Given the description of an element on the screen output the (x, y) to click on. 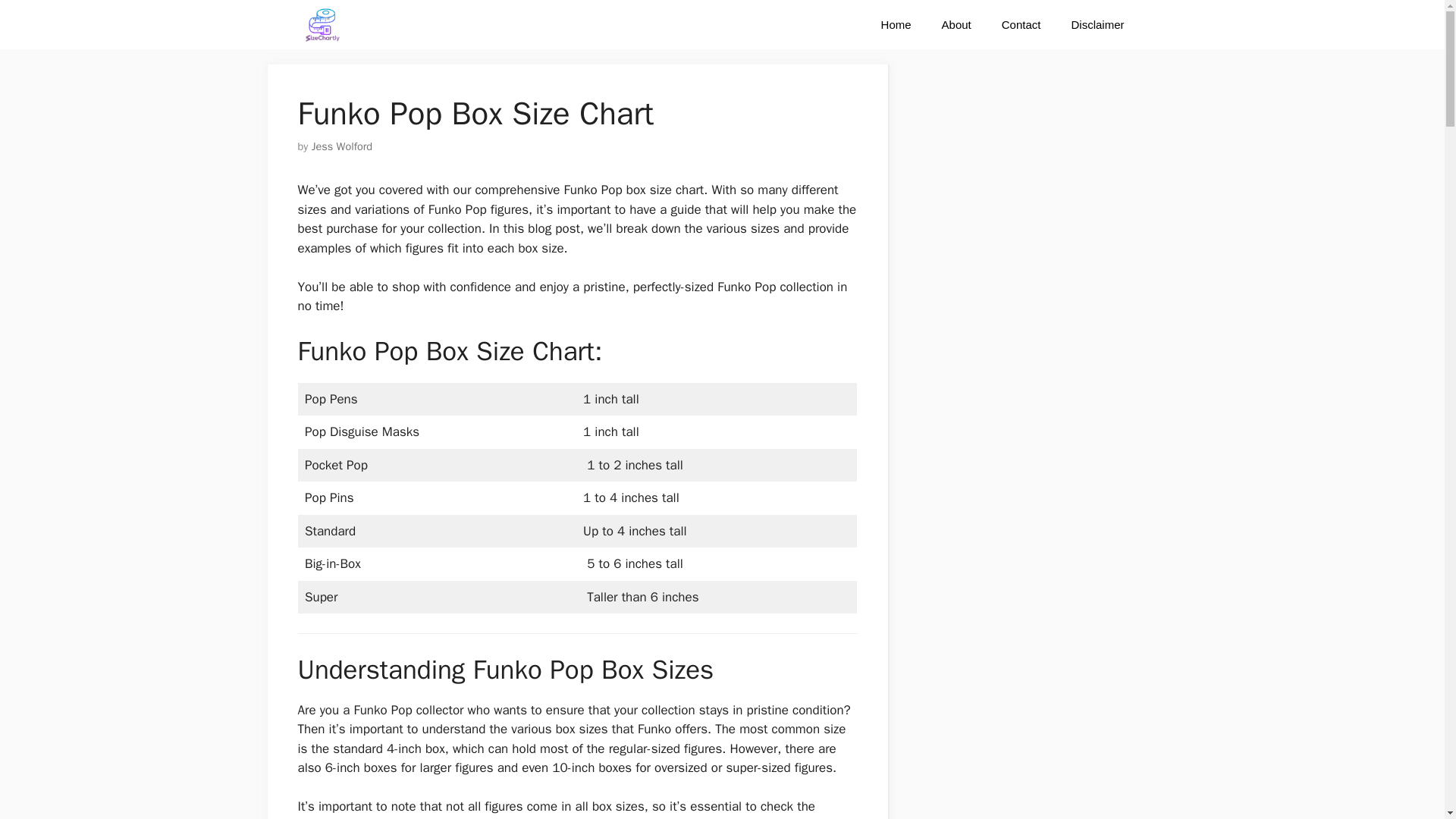
Jess Wolford (341, 146)
View all posts by Jess Wolford (341, 146)
Contact (1022, 23)
About (956, 23)
Disclaimer (1096, 23)
Home (896, 23)
